Given the description of an element on the screen output the (x, y) to click on. 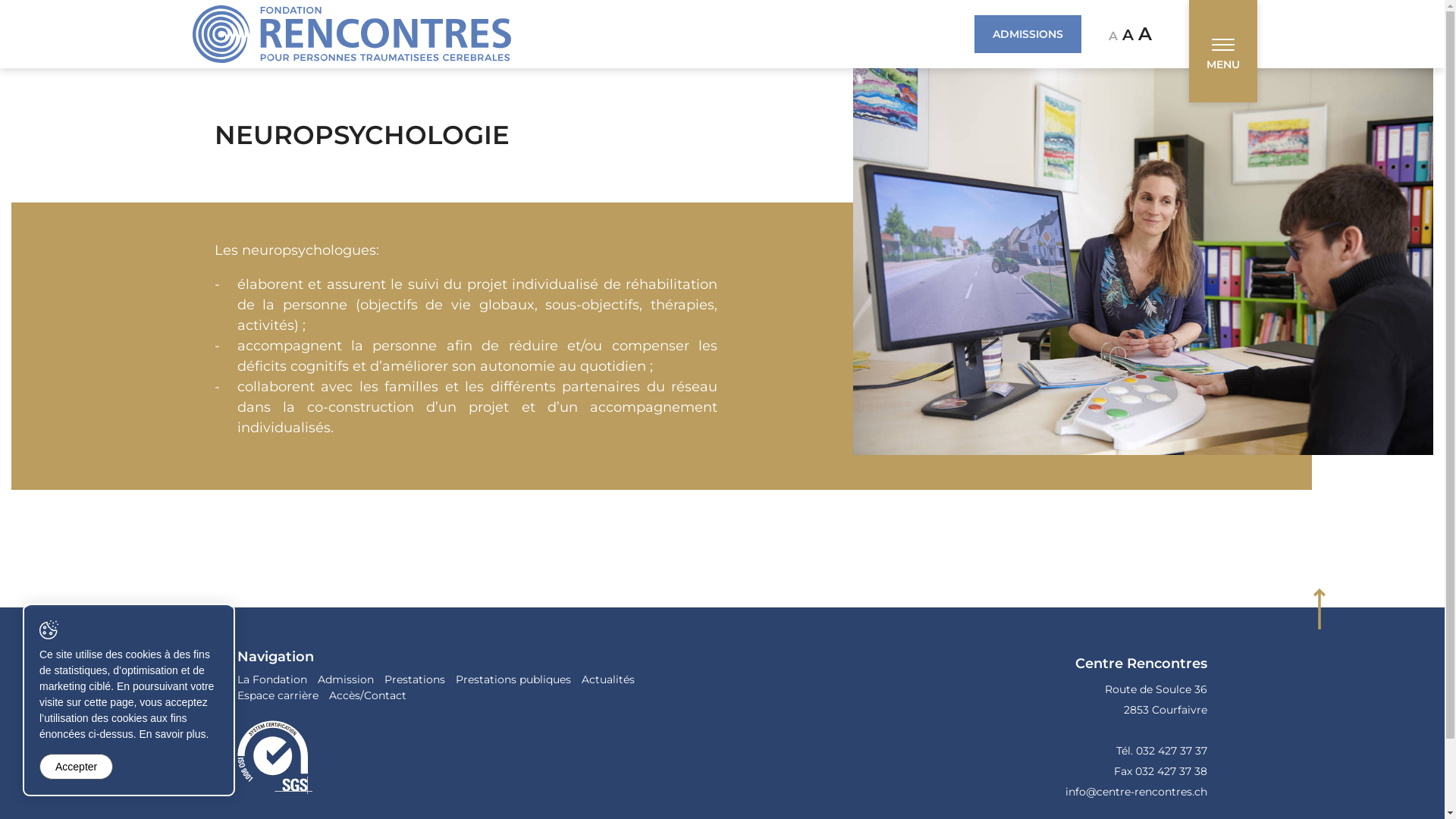
Accepter Element type: text (75, 766)
ADMISSIONS Element type: text (1026, 34)
A Element type: text (1144, 34)
La Fondation Element type: text (271, 679)
A Element type: text (1112, 36)
Afficher la navigation
MENU Element type: text (1223, 51)
Neuropsychologie Element type: hover (1100, 261)
Prestations publiques Element type: text (512, 679)
info@centre-rencontres.ch Element type: text (1136, 791)
Prestations Element type: text (413, 679)
A Element type: text (1127, 34)
Admission Element type: text (344, 679)
